Given the description of an element on the screen output the (x, y) to click on. 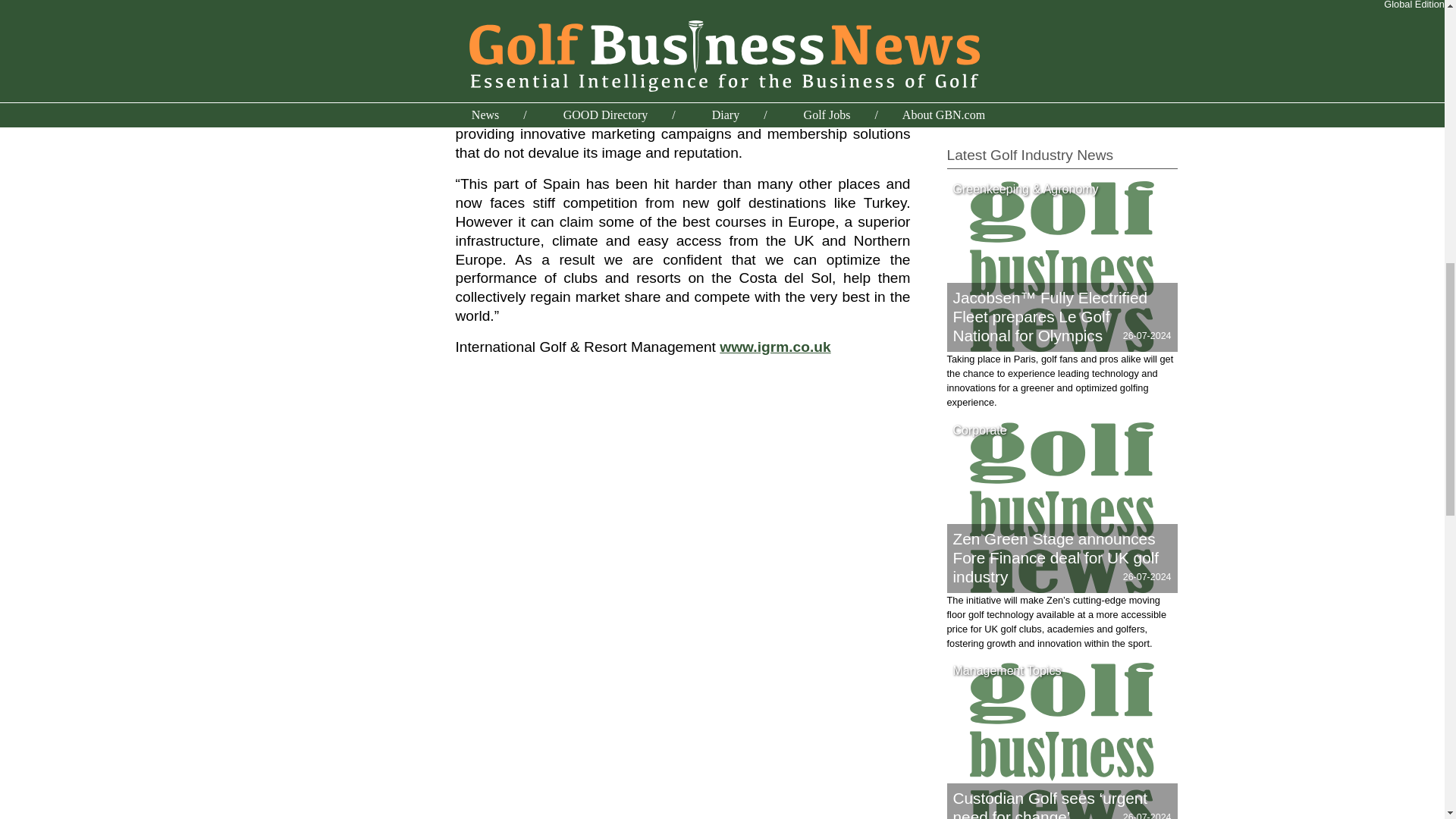
Corporate (978, 430)
www.igrm.co.uk (774, 346)
Management Topics (1006, 670)
Wiedenmann UK (994, 80)
ZEN GREEN STAGE (1003, 98)
Seventy2 Golf (986, 1)
Syngenta (973, 43)
